Given the description of an element on the screen output the (x, y) to click on. 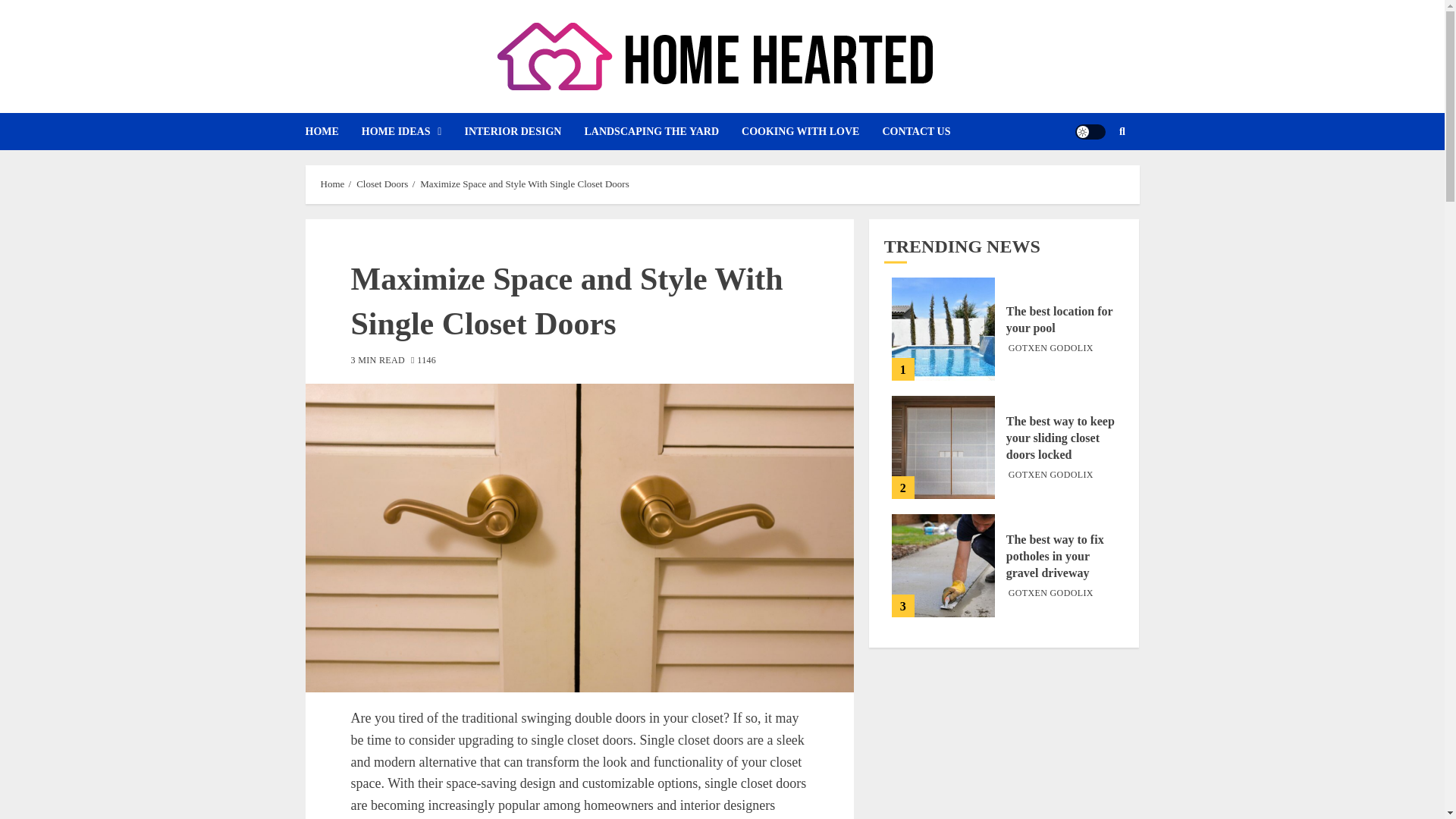
The best location for your pool (1059, 319)
LANDSCAPING THE YARD (662, 131)
Maximize Space and Style With Single Closet Doors (524, 184)
Search (1122, 131)
CONTACT US (927, 131)
HOME (332, 131)
COOKING WITH LOVE (811, 131)
The best location for your pool (942, 328)
1146 (422, 360)
Closet Doors (381, 184)
INTERIOR DESIGN (523, 131)
Home (331, 184)
Search (1092, 176)
HOME IDEAS (412, 131)
